Given the description of an element on the screen output the (x, y) to click on. 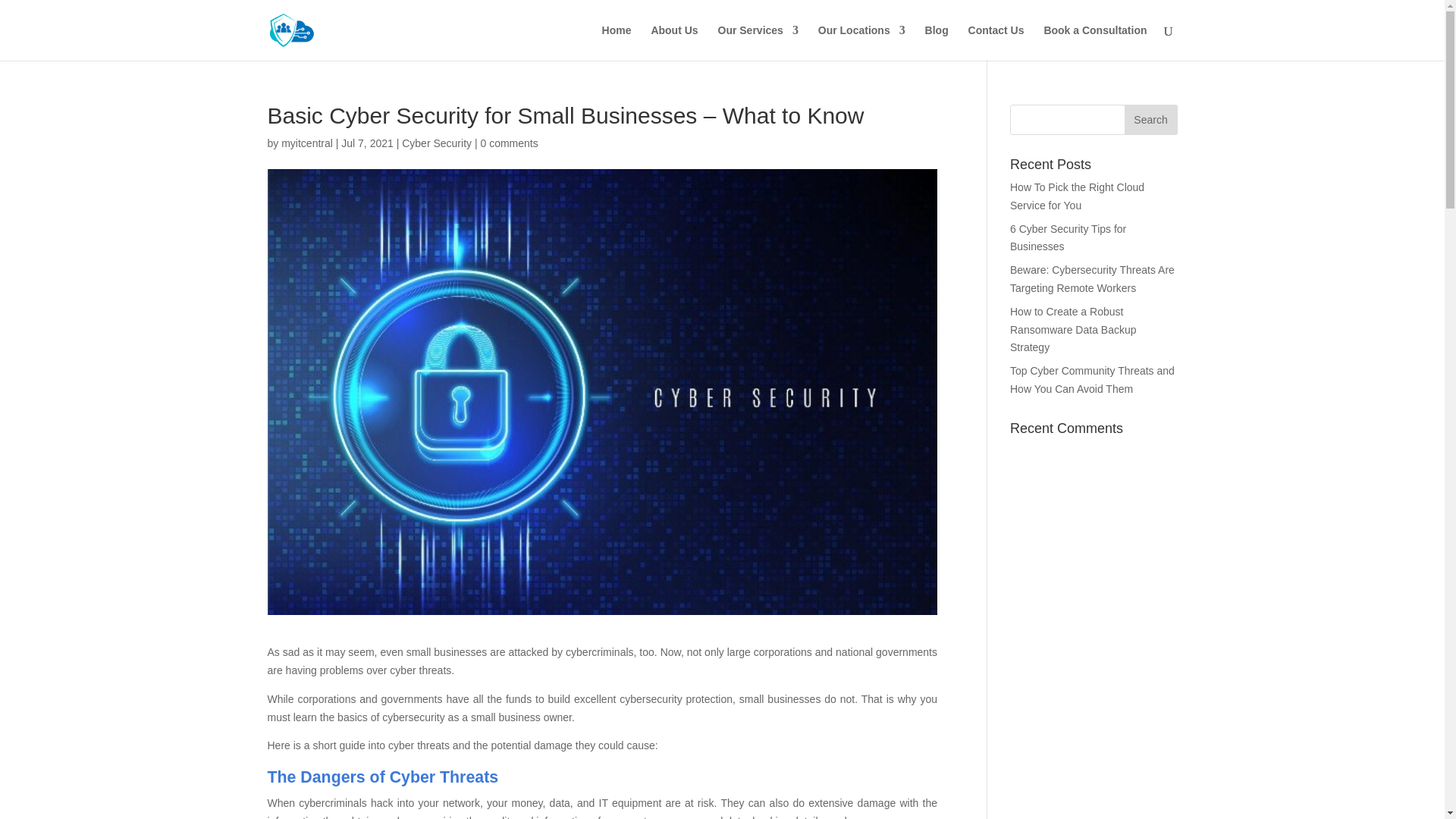
Our Locations (861, 42)
Search (1150, 119)
Our Services (757, 42)
About Us (673, 42)
Posts by myitcentral (307, 143)
Book a Consultation (1095, 42)
Contact Us (996, 42)
